Given the description of an element on the screen output the (x, y) to click on. 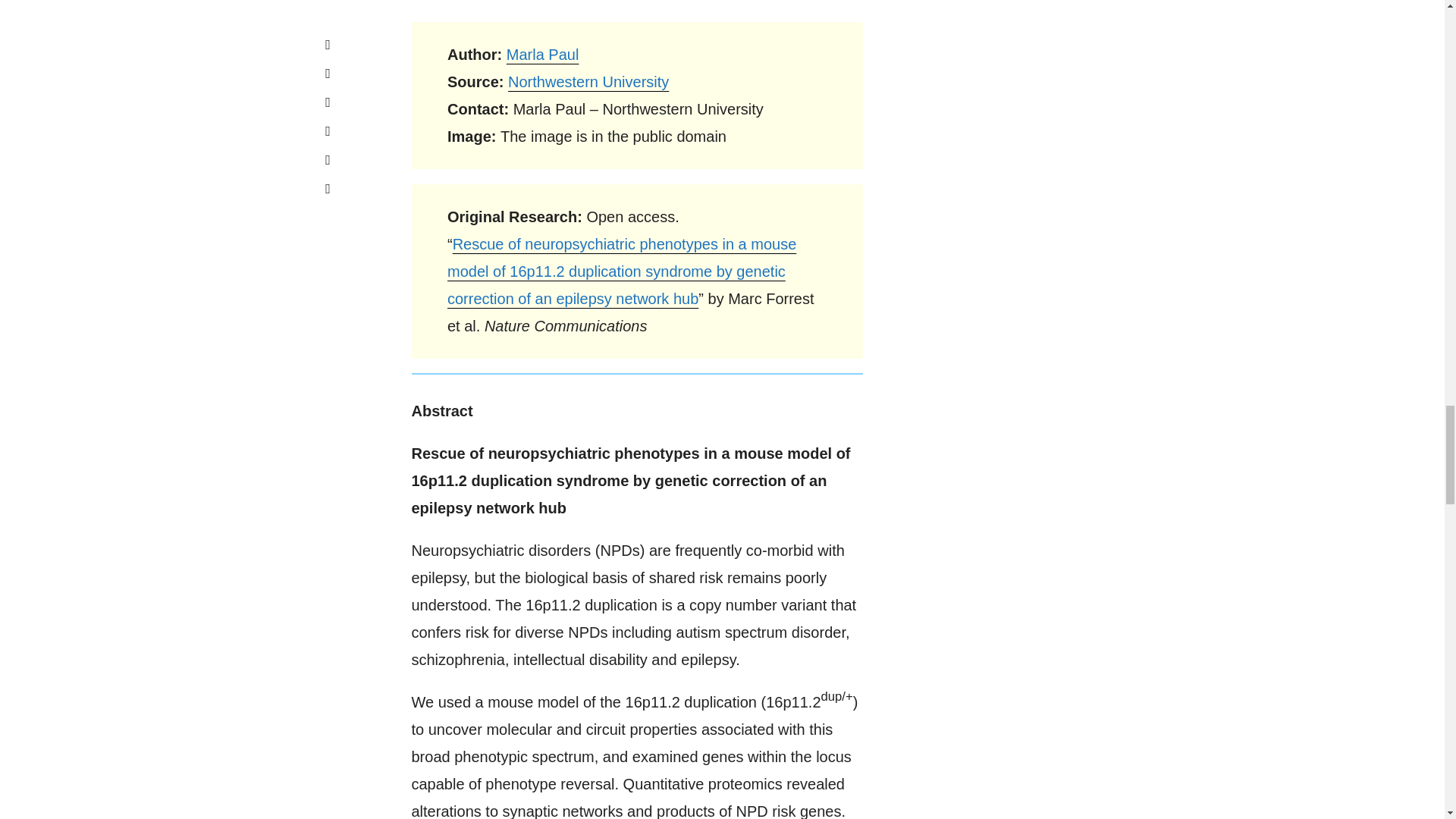
Northwestern University (588, 81)
Marla Paul (542, 54)
